Given the description of an element on the screen output the (x, y) to click on. 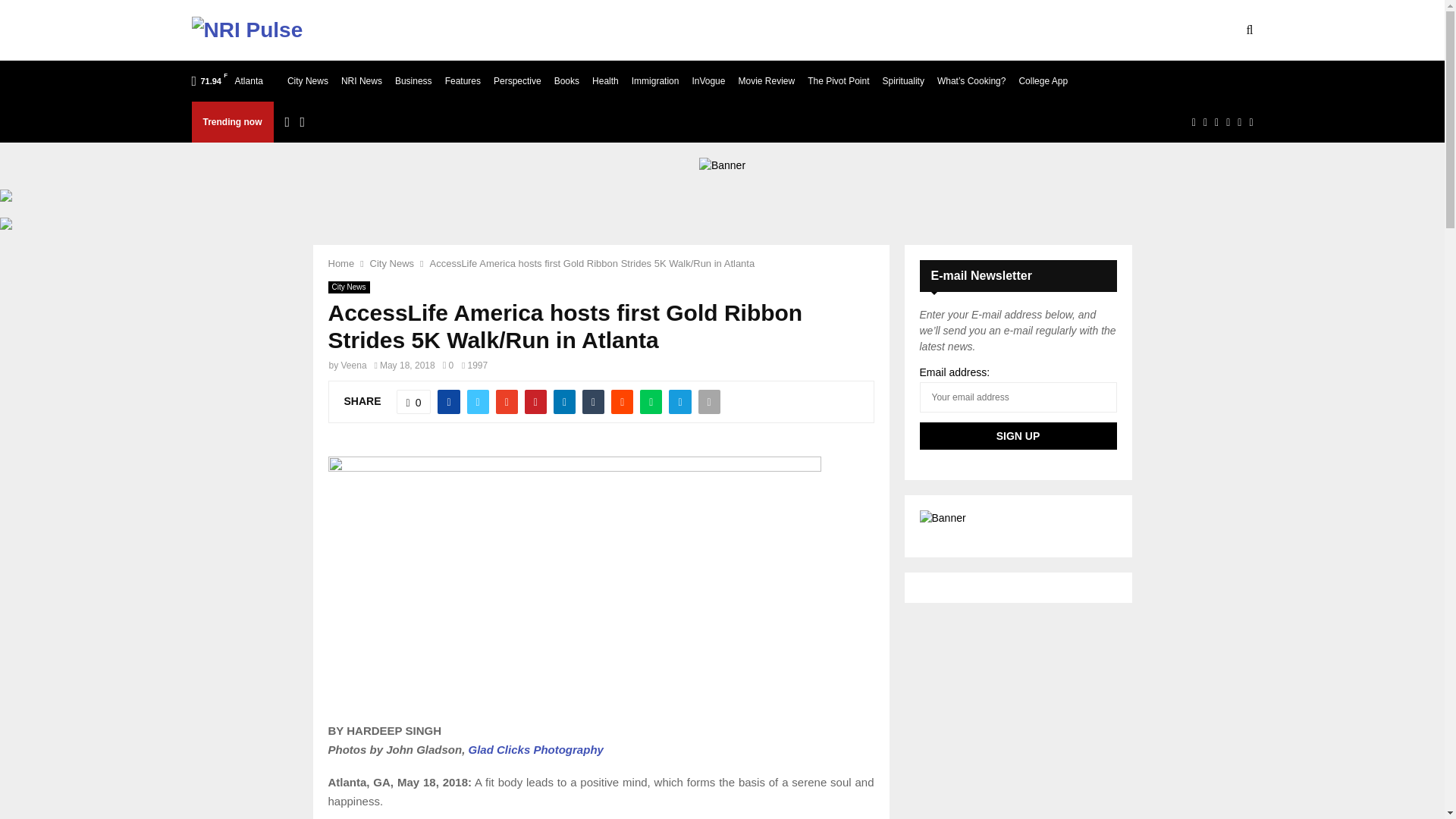
Spirituality (903, 80)
Books (566, 80)
InVogue (708, 80)
College App (1042, 80)
ABOUT US (414, 30)
The Pivot Point (838, 80)
Movie Review (766, 80)
Like (413, 401)
Youtube (1227, 121)
ADVERTISE (597, 30)
HOME (349, 30)
Health (605, 80)
City News (307, 80)
CROWDFUNDERS 2023 (857, 30)
